Given the description of an element on the screen output the (x, y) to click on. 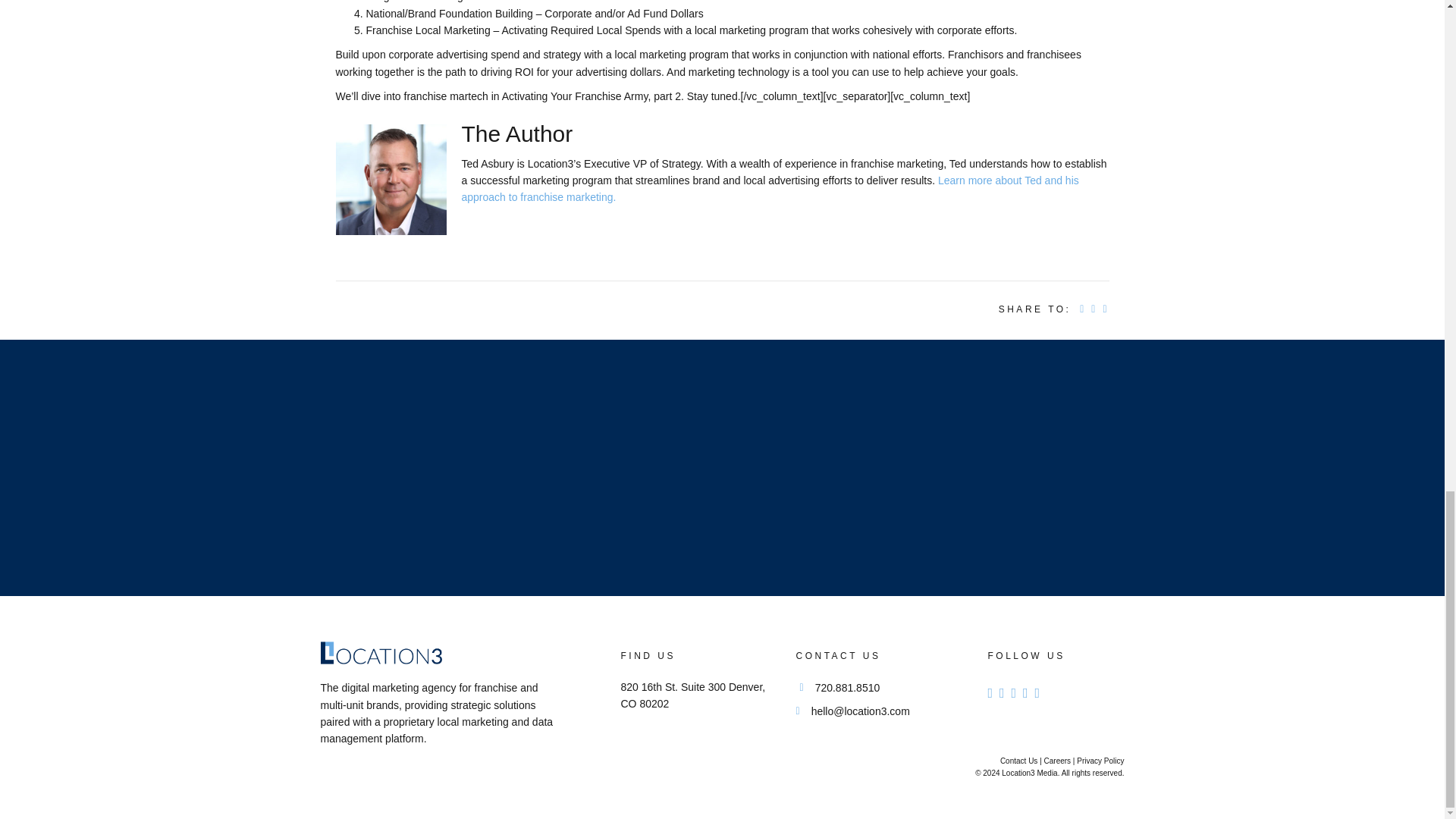
l3-logo-dark (380, 652)
